Given the description of an element on the screen output the (x, y) to click on. 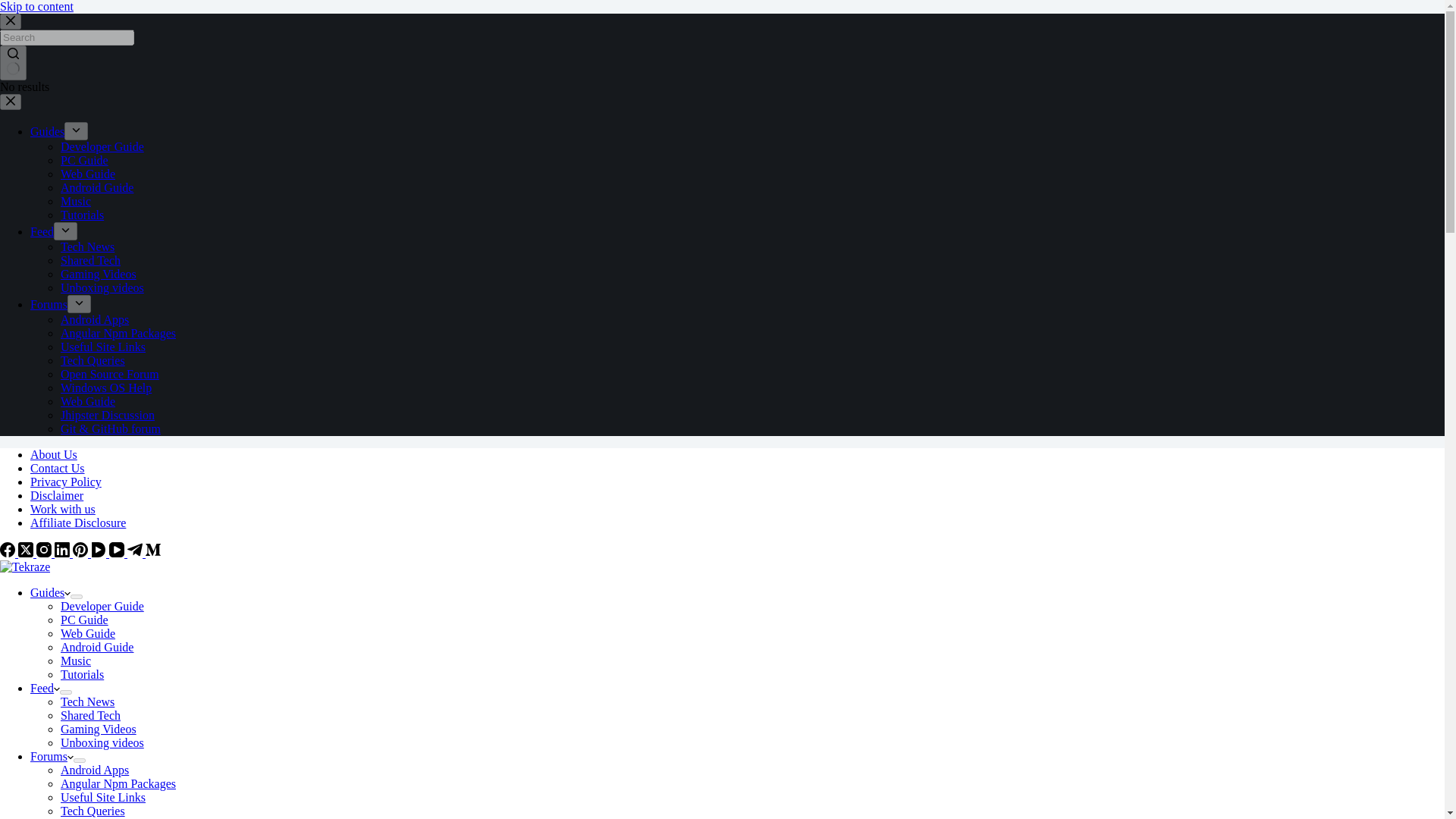
Guides (47, 131)
Music (75, 201)
Shared Tech (90, 259)
Angular Npm Packages (118, 332)
Web Guide (88, 173)
Search for... (66, 37)
Tech News (88, 246)
Tech Queries (93, 359)
Android Guide (97, 187)
Contact Us (57, 468)
